Given the description of an element on the screen output the (x, y) to click on. 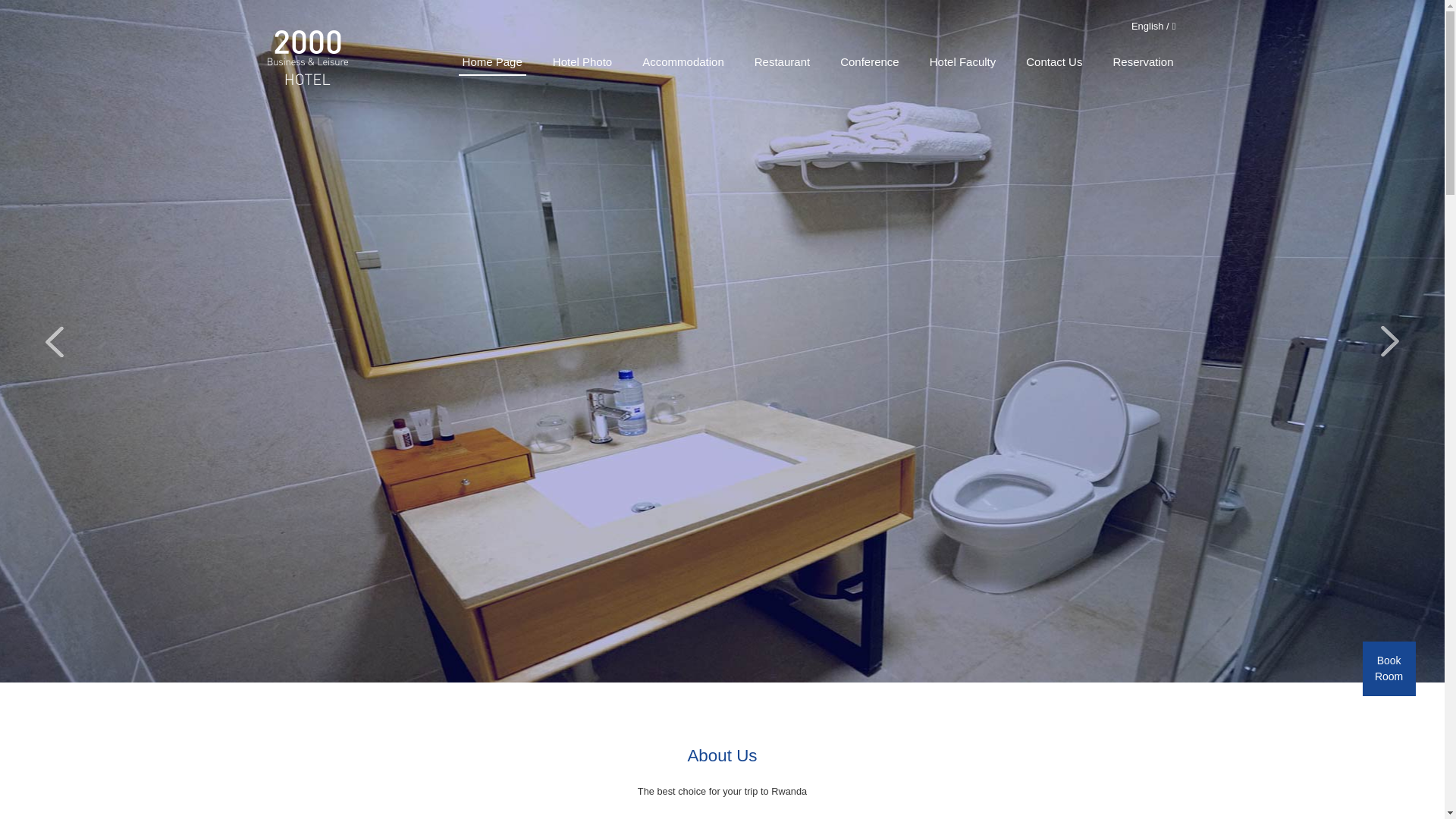
Hotel Photo Element type: text (582, 64)
Reservation Element type: text (1142, 64)
Conference Element type: text (869, 64)
Accommodation Element type: text (683, 64)
Book
Room Element type: text (1388, 668)
Hotel Faculty Element type: text (962, 64)
Contact Us Element type: text (1053, 64)
Home Page Element type: text (492, 64)
Restaurant Element type: text (781, 64)
English / Element type: text (1150, 26)
